Given the description of an element on the screen output the (x, y) to click on. 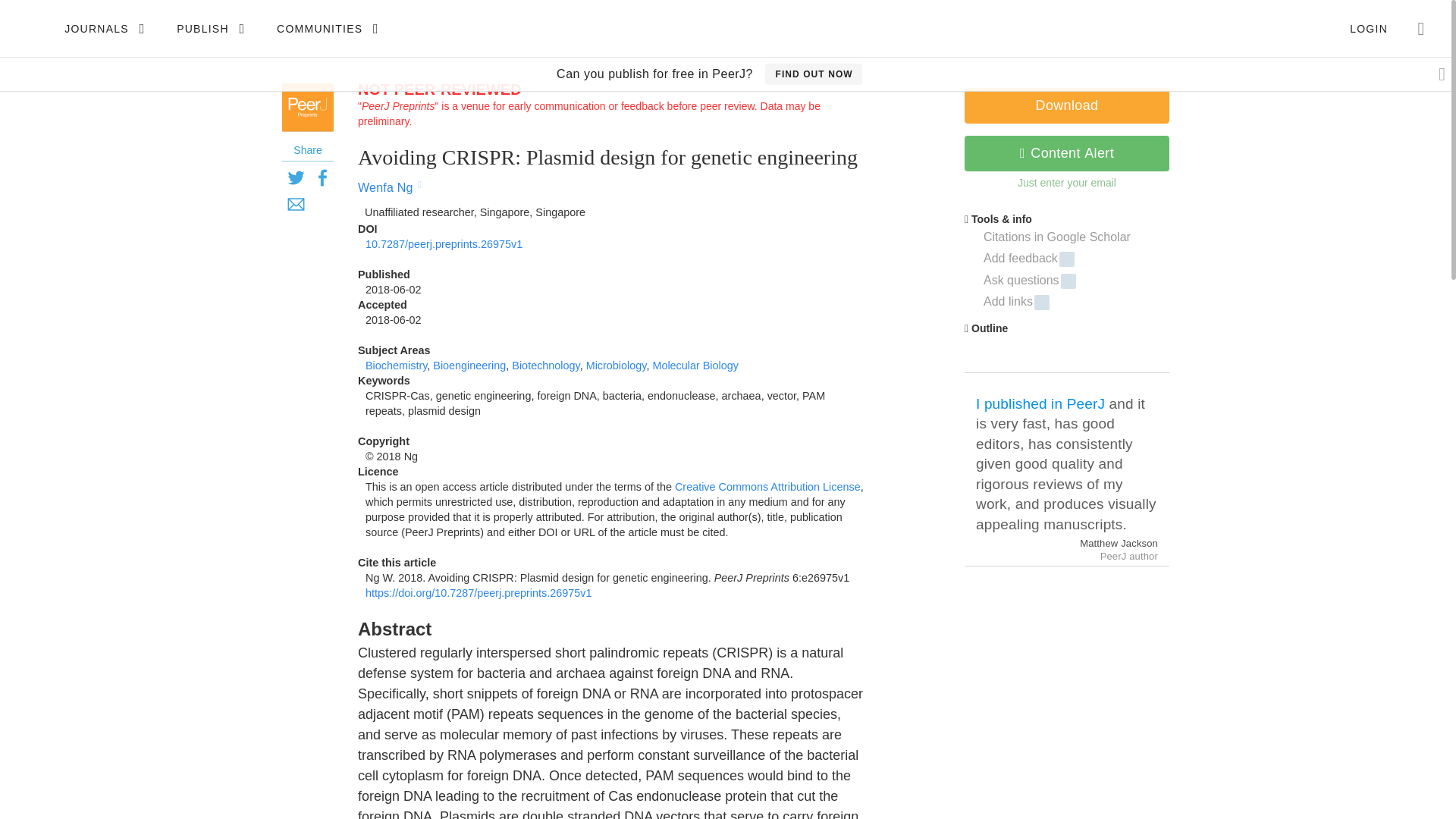
Facebook (321, 176)
Molecular Biology (695, 365)
Bioengineering (468, 365)
X (295, 176)
Biotechnology (545, 365)
Wenfa Ng (387, 187)
Biochemistry (395, 365)
Email (295, 203)
Add feedback (1076, 259)
